Given the description of an element on the screen output the (x, y) to click on. 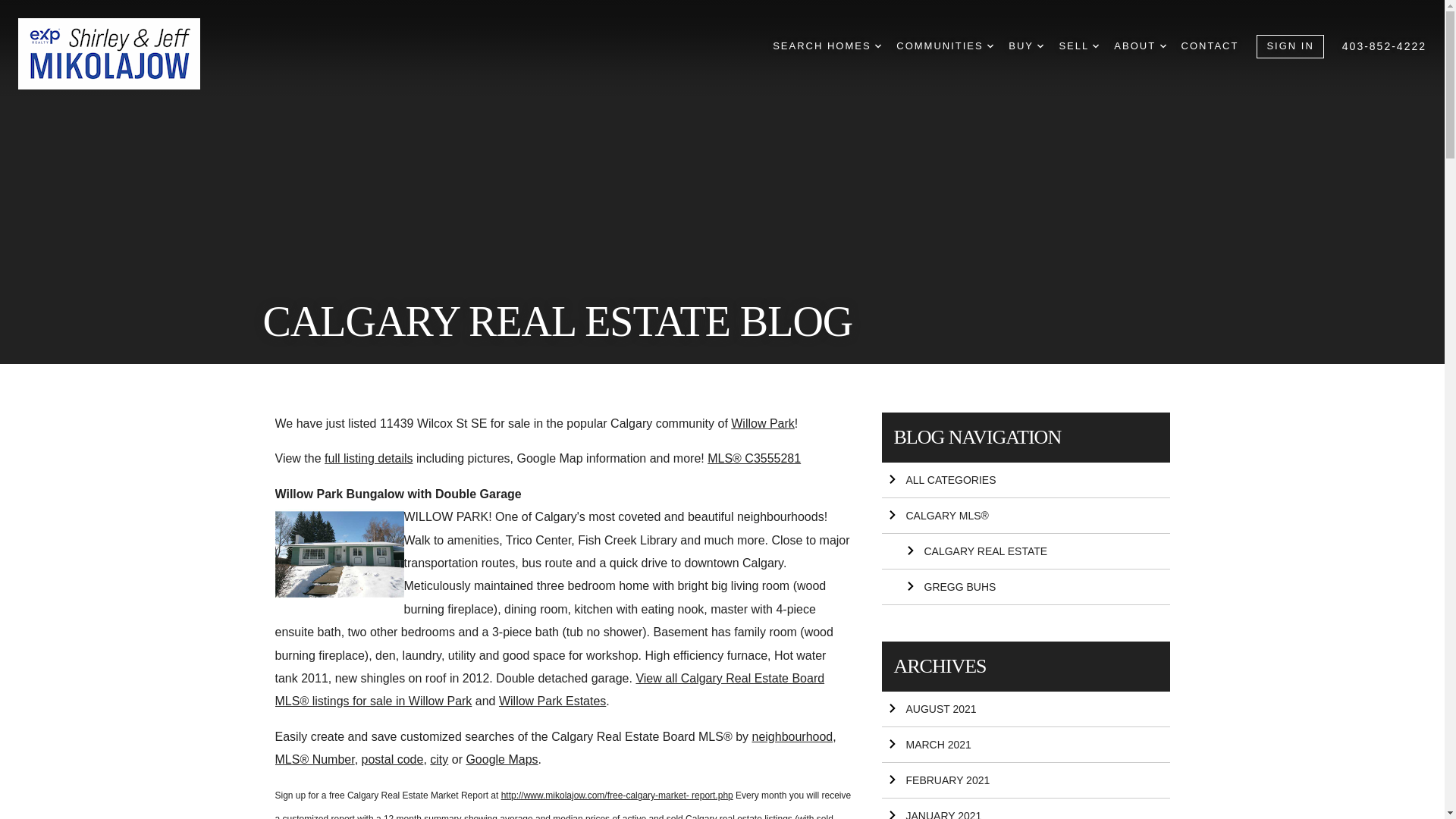
SELL DROPDOWN ARROW (1078, 46)
CONTACT (1209, 46)
DROPDOWN ARROW (1163, 46)
DROPDOWN ARROW (1039, 46)
SEARCH HOMES DROPDOWN ARROW (826, 46)
DROPDOWN ARROW (877, 46)
ABOUT DROPDOWN ARROW (1139, 46)
DROPDOWN ARROW (989, 46)
BUY DROPDOWN ARROW (1026, 46)
COMMUNITIES DROPDOWN ARROW (944, 46)
